Given the description of an element on the screen output the (x, y) to click on. 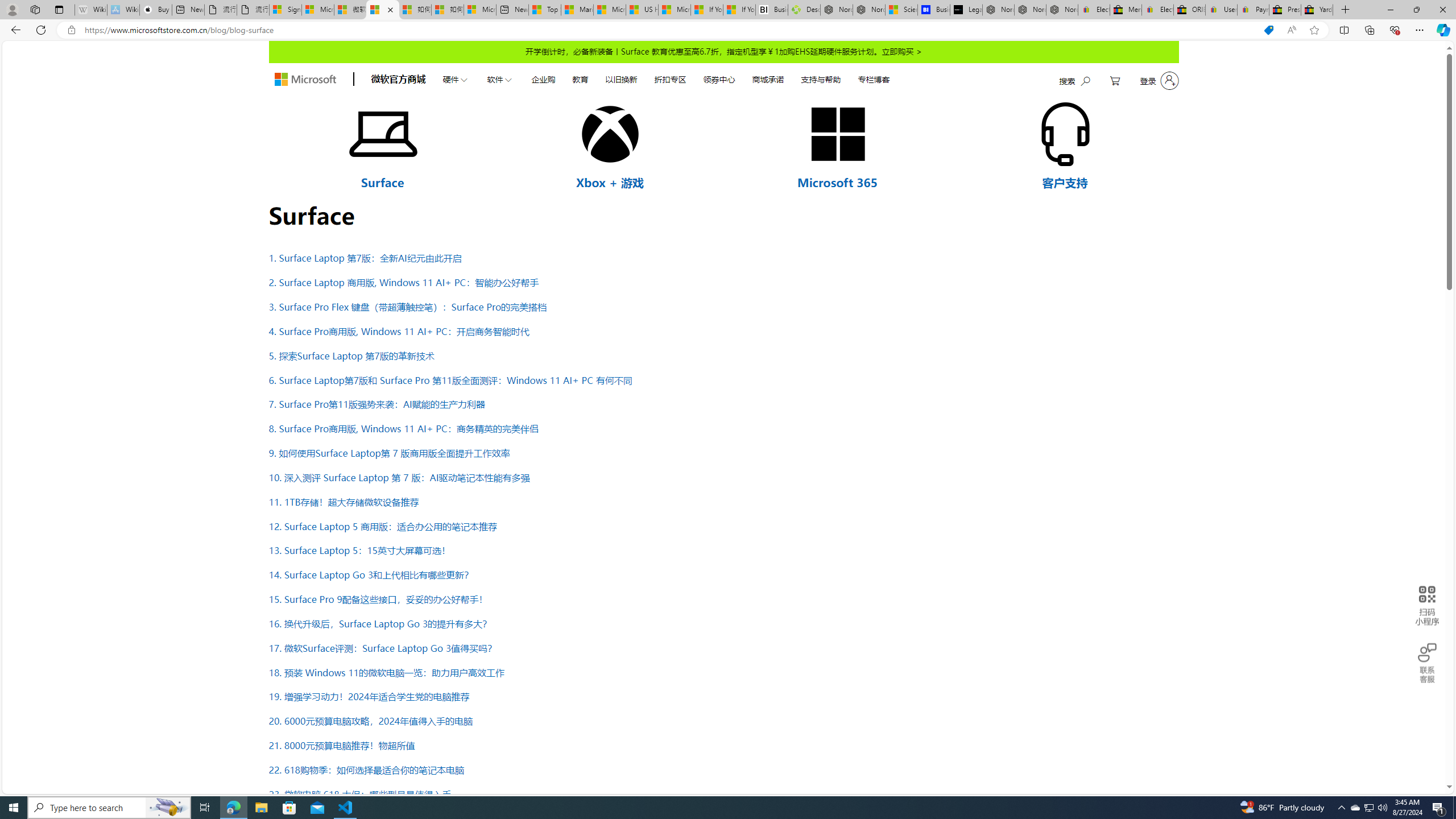
Surface (382, 182)
